Given the description of an element on the screen output the (x, y) to click on. 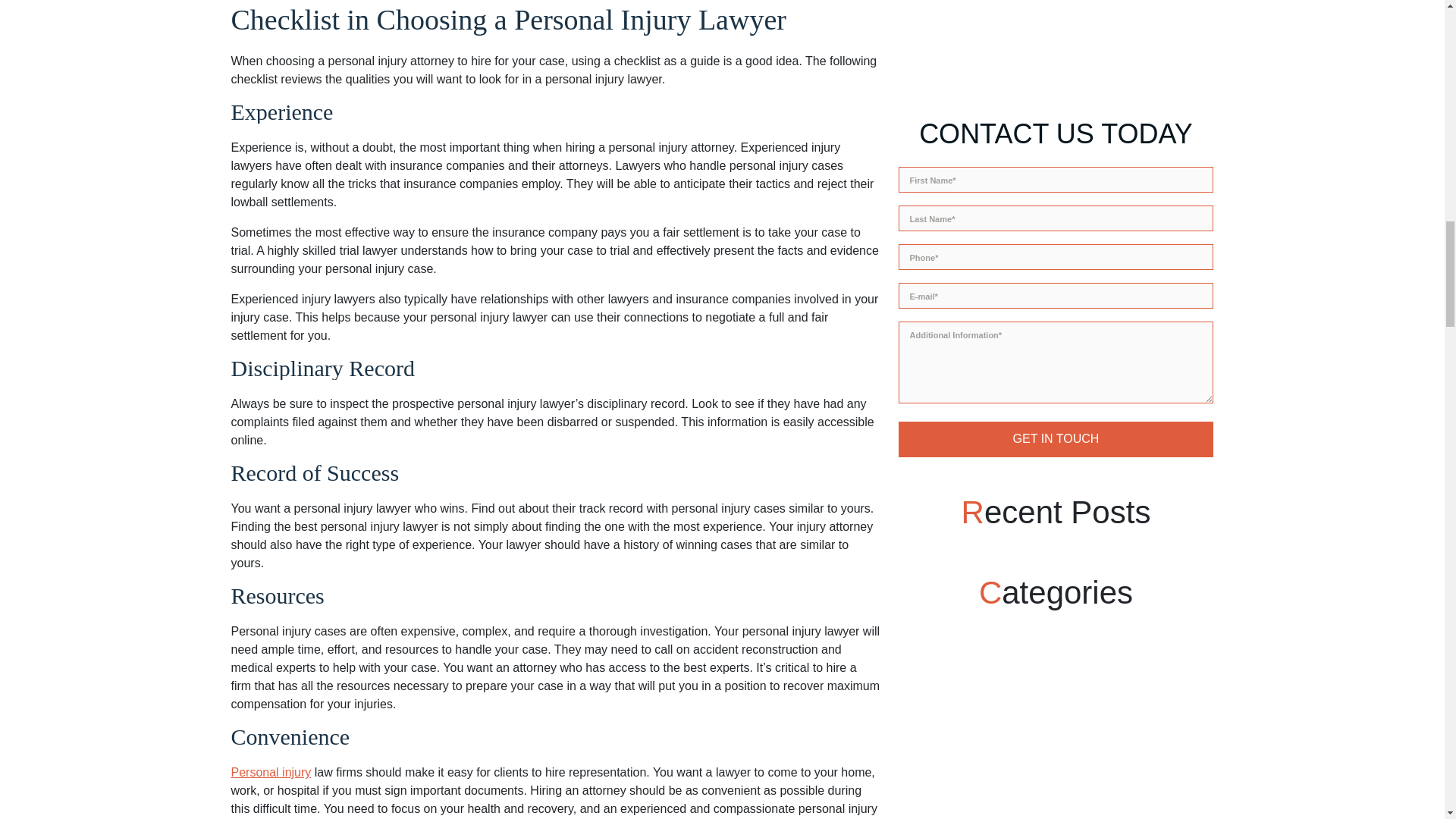
What is a Personal Injury Lawsuit? (270, 771)
